Given the description of an element on the screen output the (x, y) to click on. 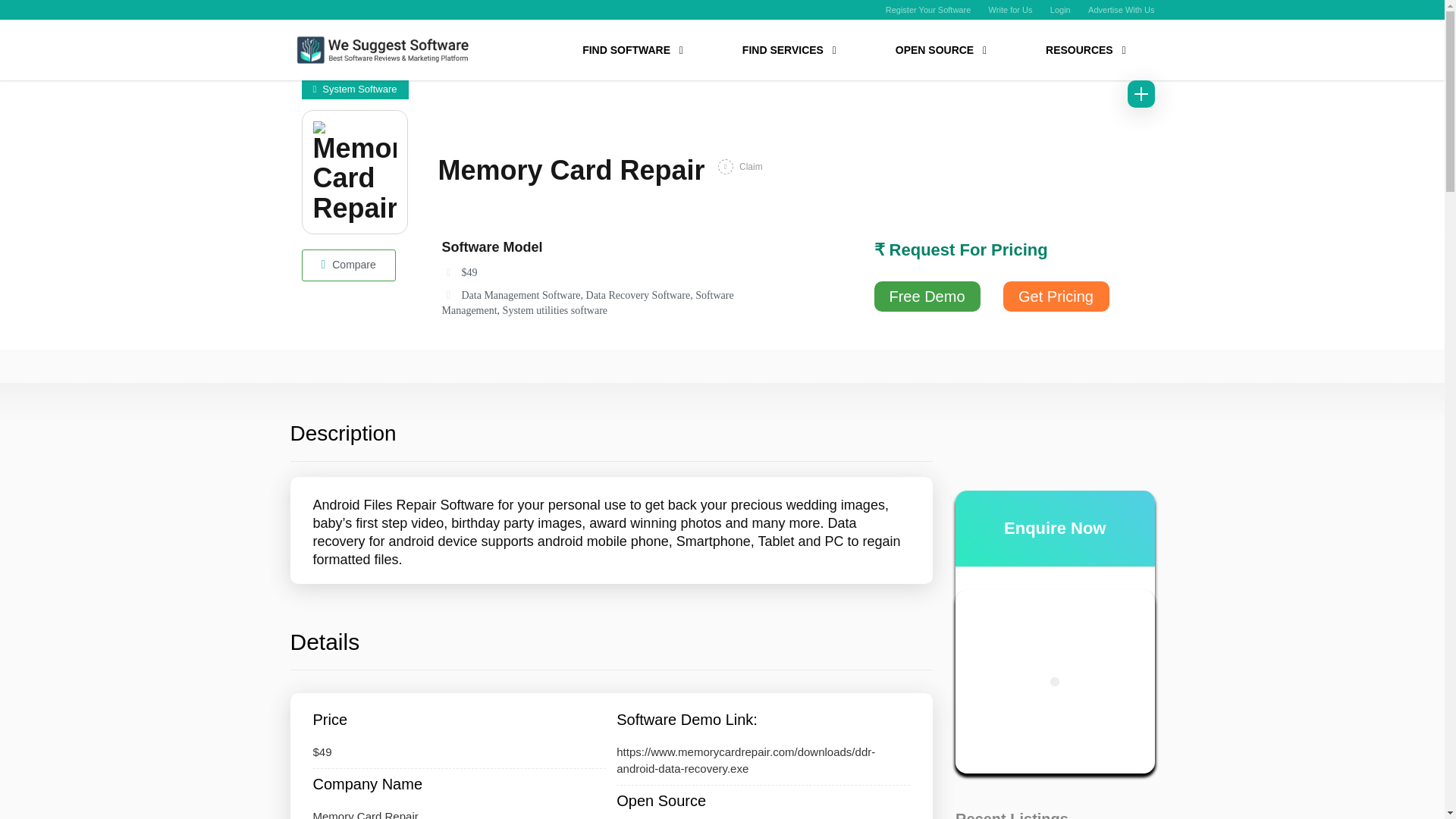
Add Listing (1140, 93)
Register Your Software (928, 9)
Login (1059, 9)
FIND SOFTWARE    (632, 51)
Compare (348, 265)
Write for Us (1010, 9)
Advertise With Us (1120, 9)
